Given the description of an element on the screen output the (x, y) to click on. 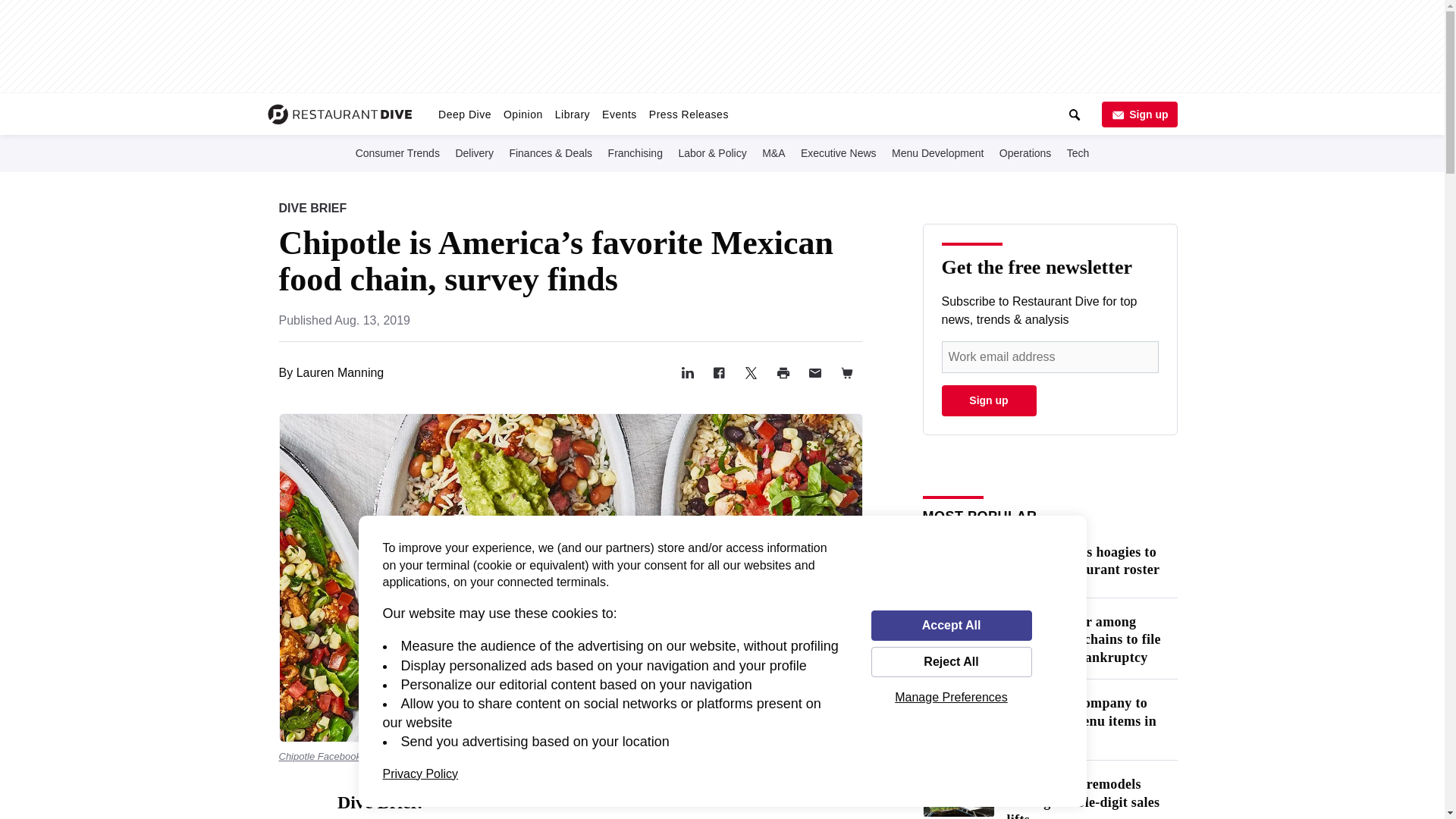
Accept All (950, 625)
Library (571, 114)
Consumer Trends (397, 152)
Press Releases (689, 114)
Executive News (838, 152)
Tech (1078, 152)
Opinion (522, 114)
Deep Dive (464, 114)
Events (619, 114)
Privacy Policy (419, 773)
